Given the description of an element on the screen output the (x, y) to click on. 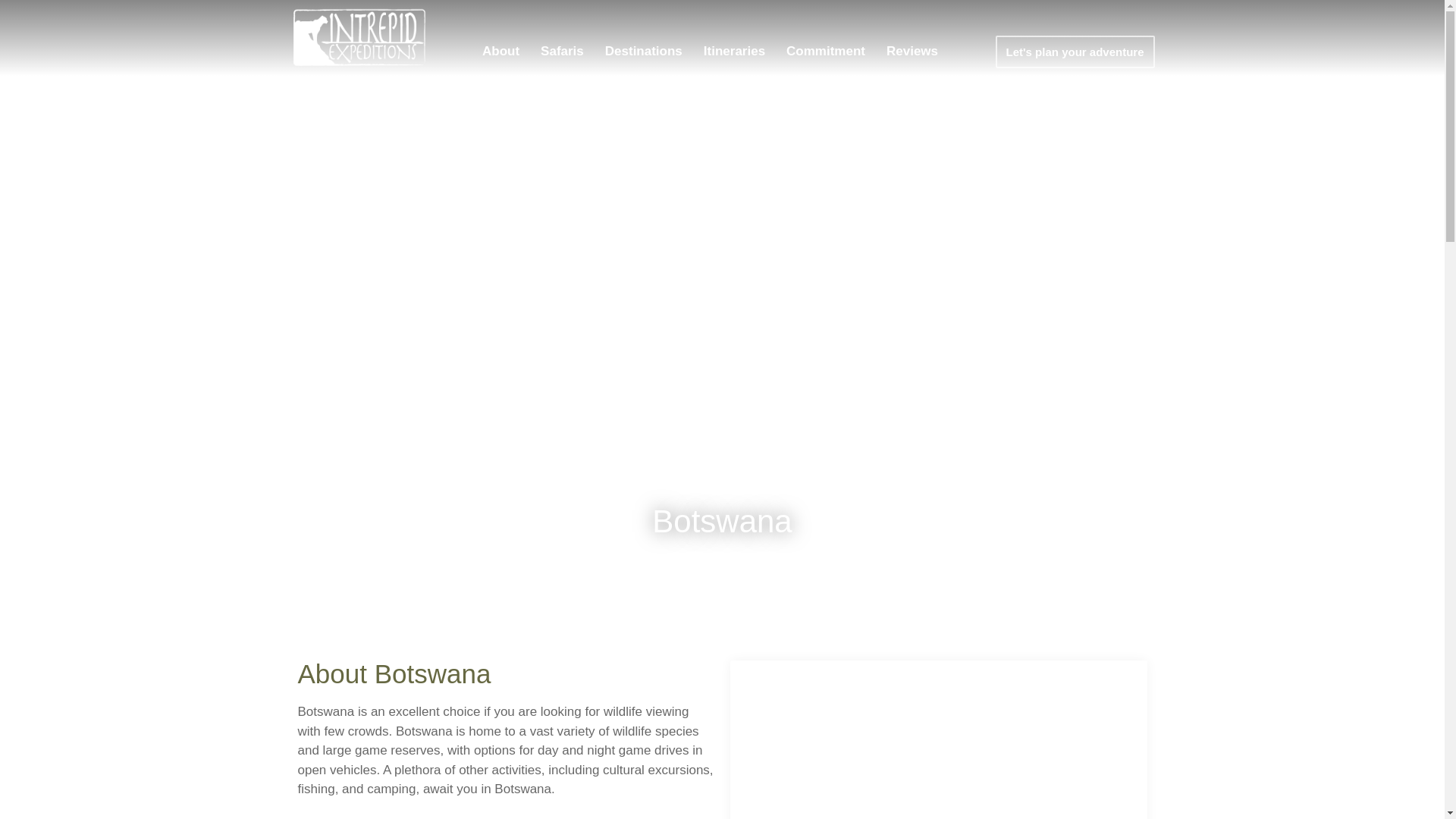
Let's plan your adventure (1074, 51)
Itineraries (734, 51)
Safaris (561, 51)
Destinations (643, 51)
Commitment (826, 51)
Reviews (912, 51)
About (500, 51)
